Given the description of an element on the screen output the (x, y) to click on. 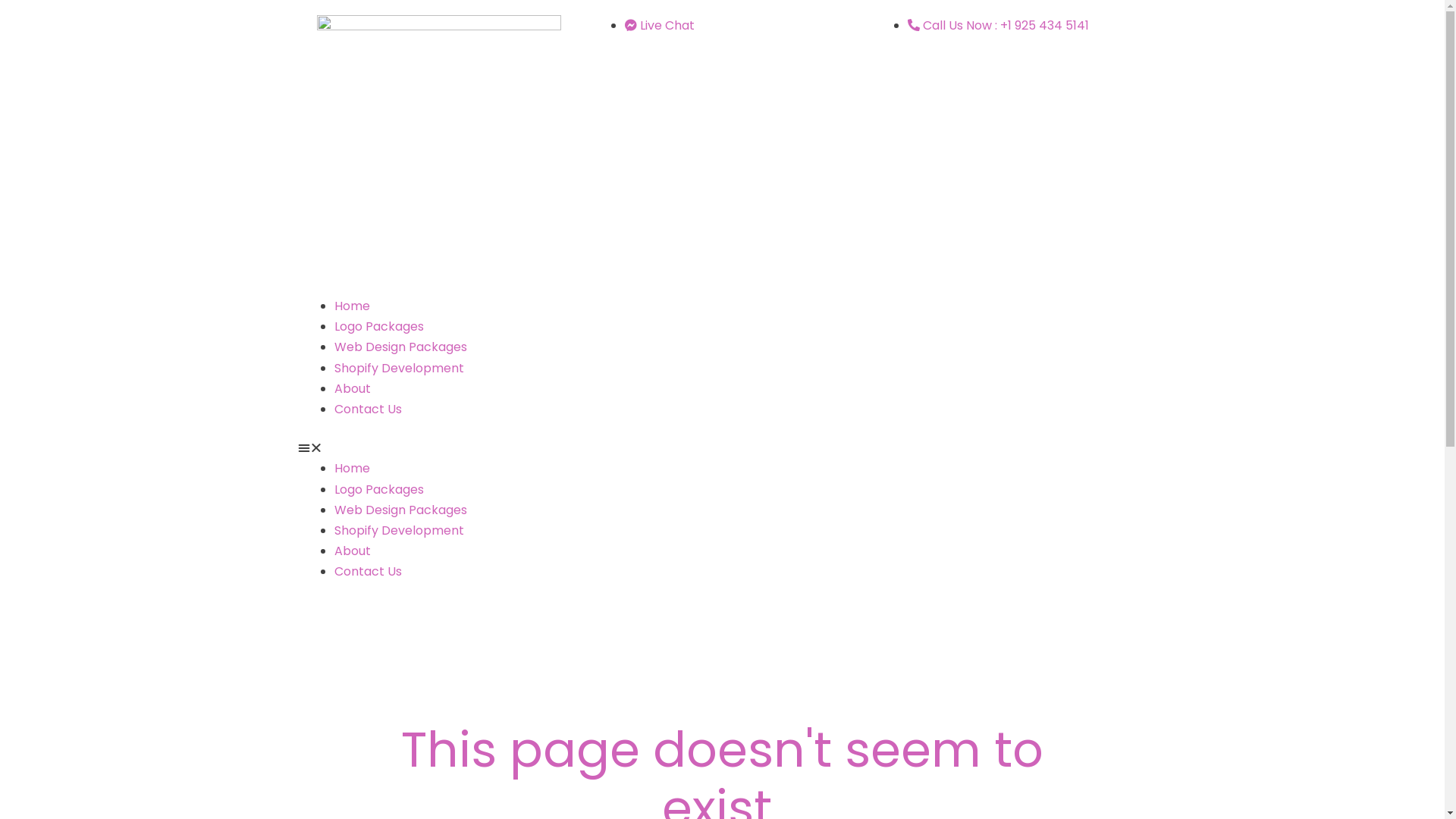
Shopify Development Element type: text (398, 367)
Web Design Packages Element type: text (399, 509)
Home Element type: text (351, 305)
Web Design Packages Element type: text (399, 346)
Contact Us Element type: text (367, 571)
Shopify Development Element type: text (398, 530)
Home Element type: text (351, 467)
Logo Packages Element type: text (378, 326)
Logo Packages Element type: text (378, 489)
Live Chat Element type: text (659, 25)
Call Us Now : +1 925 434 5141 Element type: text (997, 25)
About Element type: text (351, 550)
About Element type: text (351, 388)
Contact Us Element type: text (367, 408)
